Given the description of an element on the screen output the (x, y) to click on. 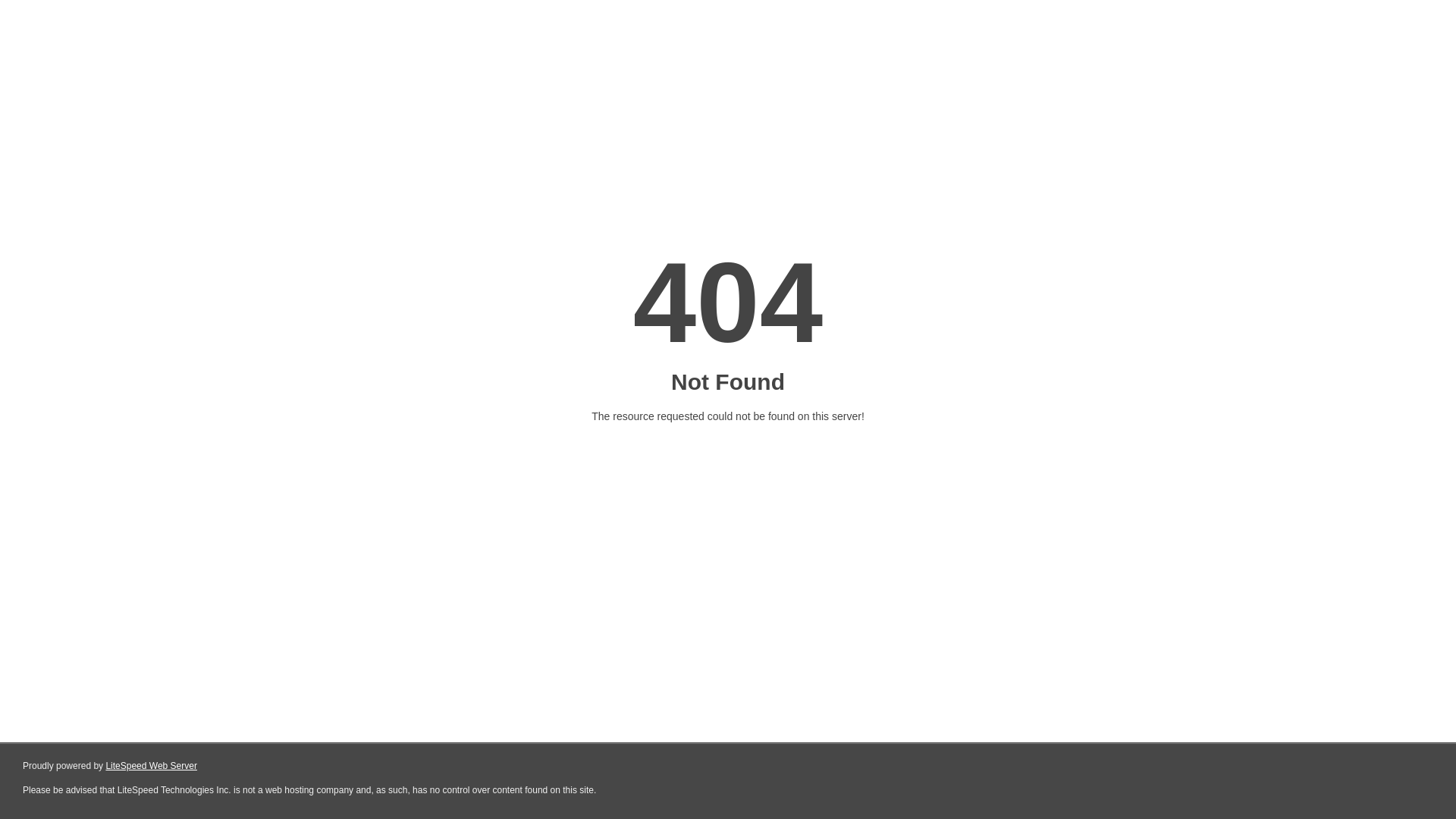
LiteSpeed Web Server Element type: text (151, 765)
